Given the description of an element on the screen output the (x, y) to click on. 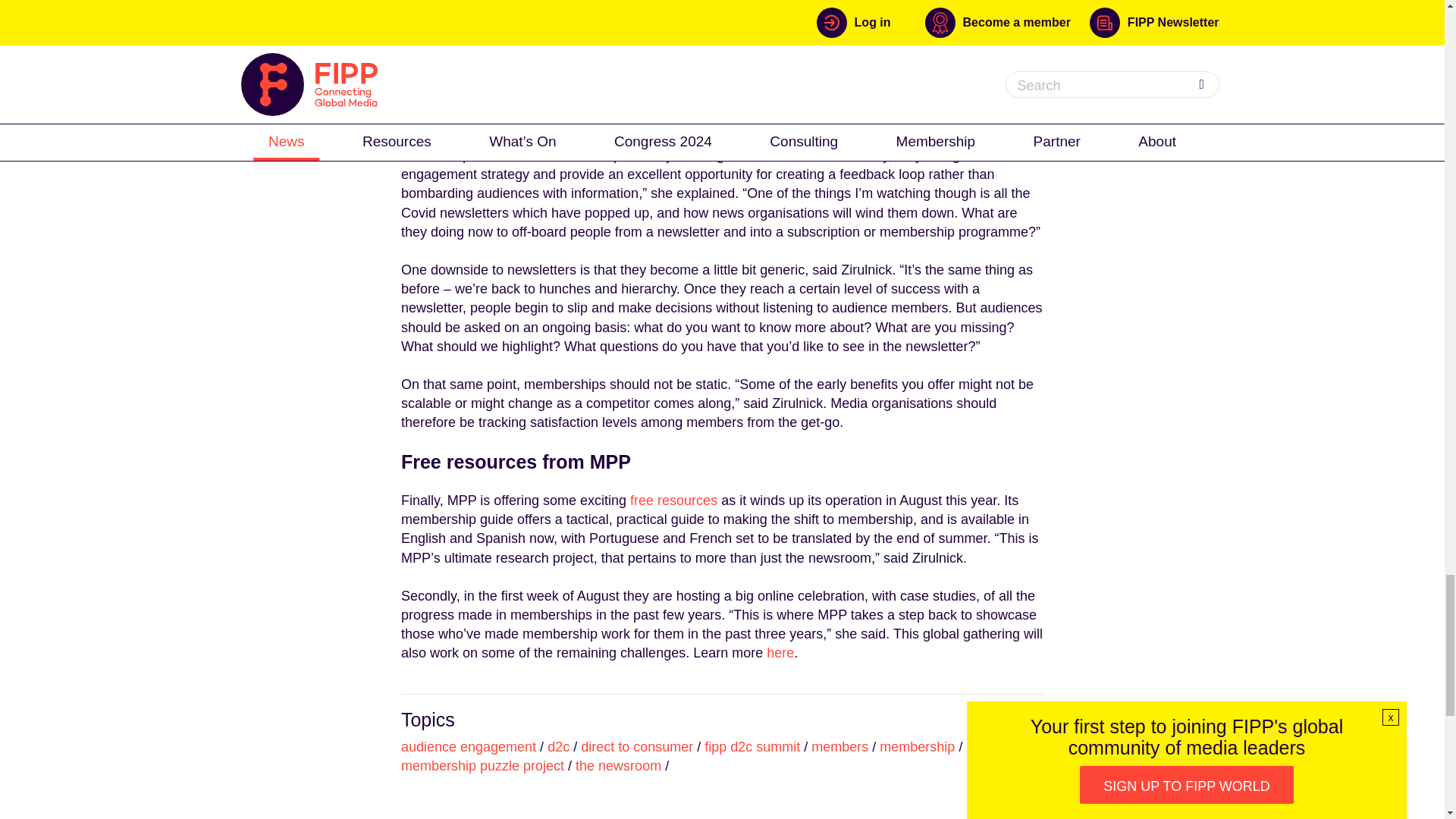
d2c (558, 746)
membership (917, 746)
membership puzzle project (482, 765)
fipp d2c summit (751, 746)
members (838, 746)
the newsroom (618, 765)
free resources (673, 500)
audience engagement (468, 746)
direct to consumer (636, 746)
here (780, 652)
